Given the description of an element on the screen output the (x, y) to click on. 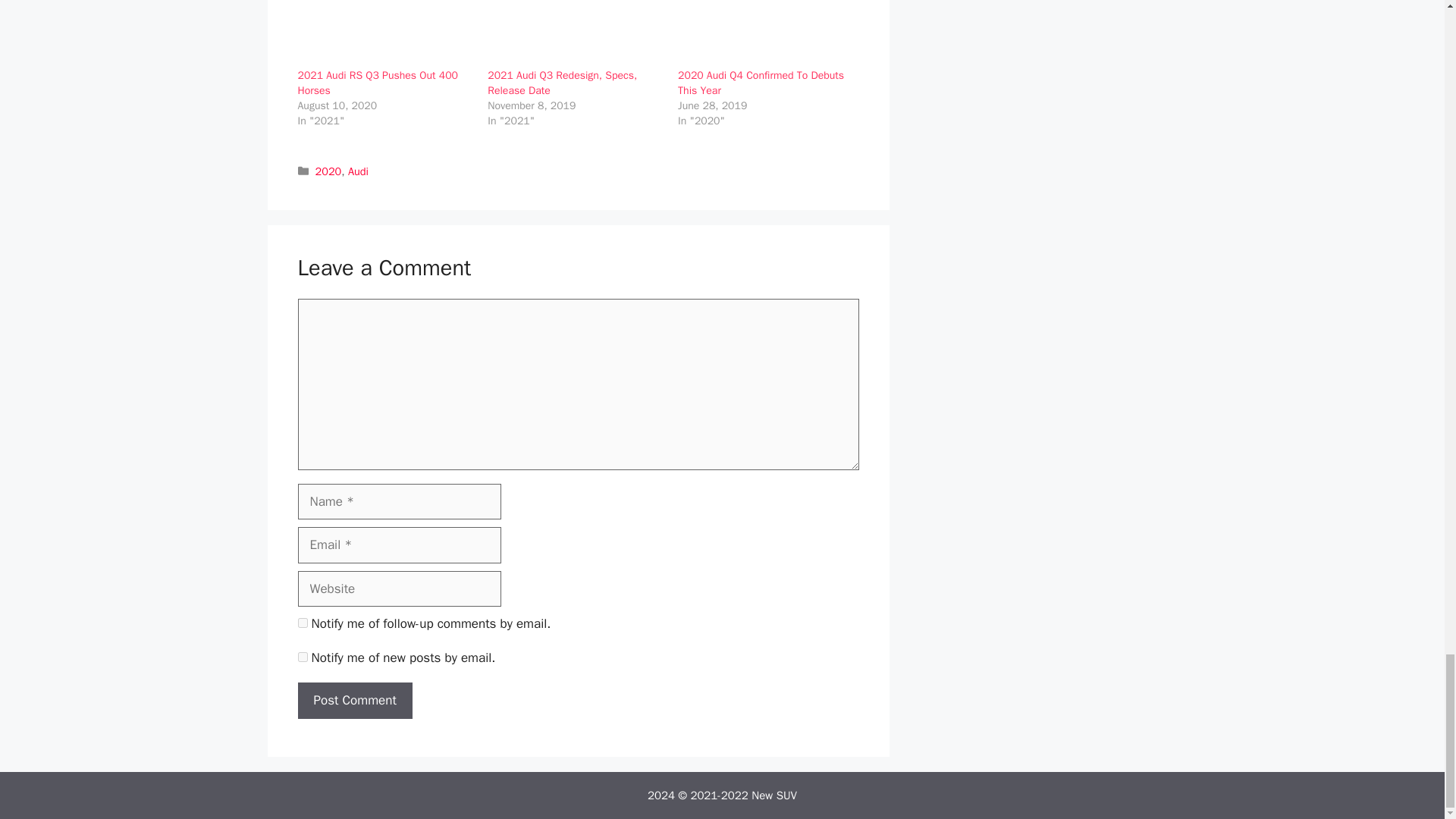
2020 Audi Q4 Confirmed To Debuts This Year (761, 82)
subscribe (302, 656)
2021 Audi Q3 Redesign, Specs, Release Date (574, 33)
2021 Audi RS Q3 Pushes Out 400 Horses (377, 82)
2021 Audi RS Q3 Pushes Out 400 Horses (384, 33)
subscribe (302, 623)
2020 (328, 171)
2021 Audi Q3 Redesign, Specs, Release Date (562, 82)
2021 Audi RS Q3 Pushes Out 400 Horses (377, 82)
Post Comment (354, 700)
